Given the description of an element on the screen output the (x, y) to click on. 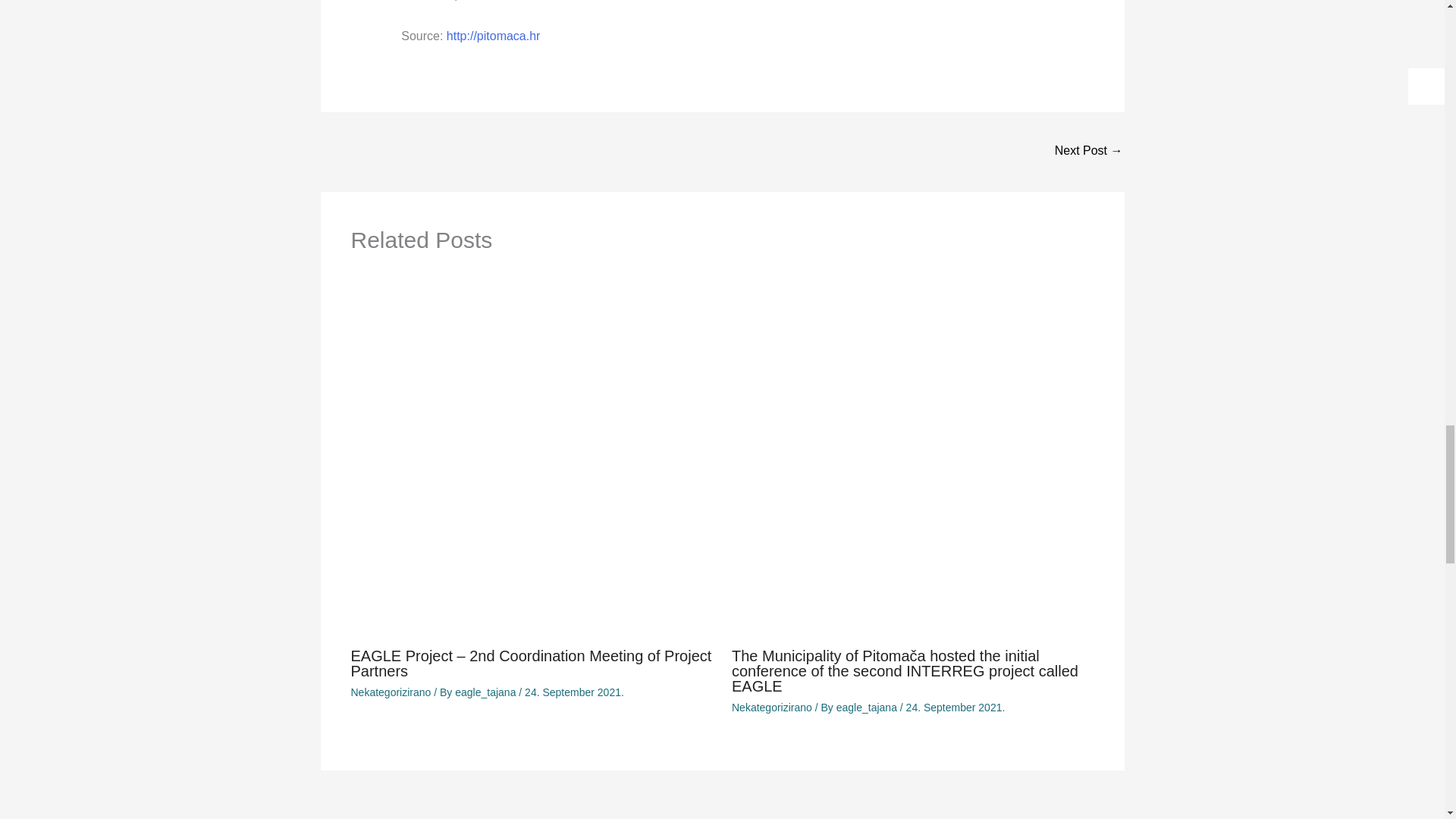
EAGLE Project - 2nd Coordination Meeting of Project Partners (1088, 152)
Nekategorizirano (390, 692)
Nekategorizirano (772, 707)
